Given the description of an element on the screen output the (x, y) to click on. 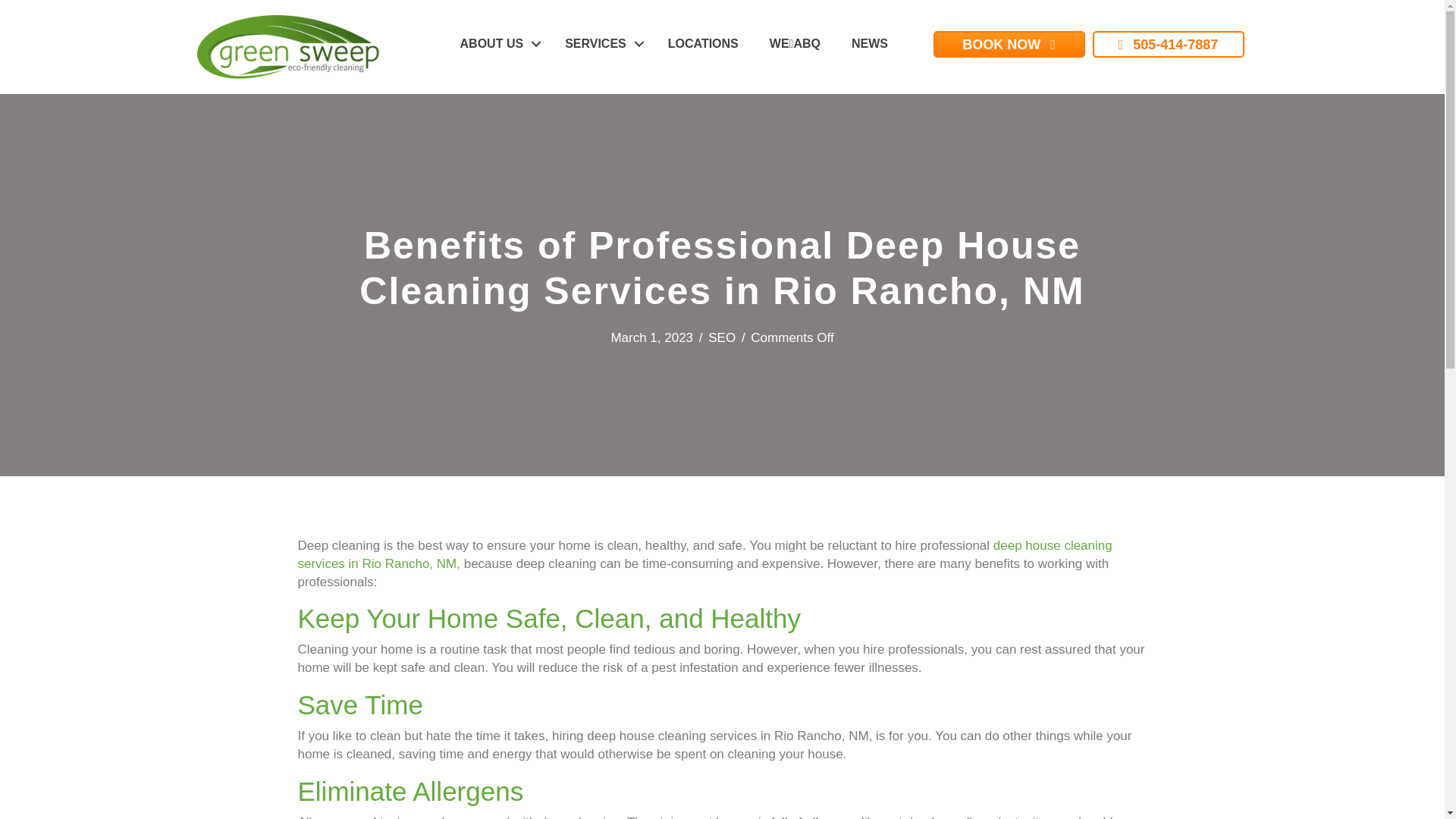
SERVICES (601, 43)
LOCATIONS (703, 43)
greensweep-logo (287, 46)
deep house cleaning services in Rio Rancho, NM, (704, 554)
About Us (497, 43)
ABOUT US (497, 43)
NEWS (868, 43)
505-414-7887 (1167, 44)
SEO (721, 337)
Services (601, 43)
